Given the description of an element on the screen output the (x, y) to click on. 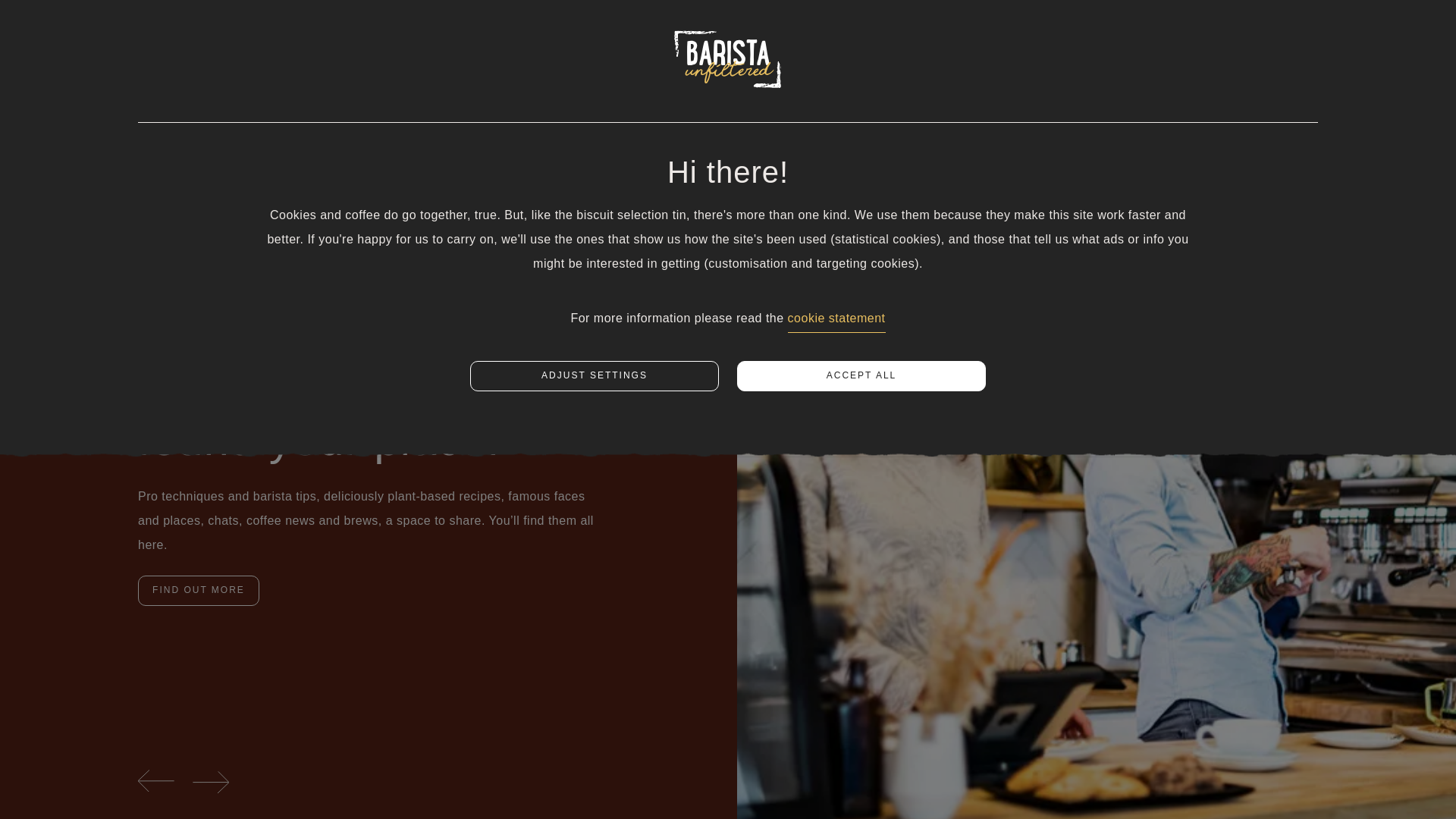
cookie statement (836, 322)
FIND OUT MORE (198, 590)
ACCEPT ALL (860, 376)
NEWS (905, 73)
COMMUNITY (532, 73)
RECIPES (235, 73)
TECHNIQUES (379, 73)
FIND OUT MORE (198, 590)
ADJUST SETTINGS (594, 376)
FIND OUT MORE - navigate to page (198, 590)
WORLD OF COFFEE ATHENS (728, 73)
